Given the description of an element on the screen output the (x, y) to click on. 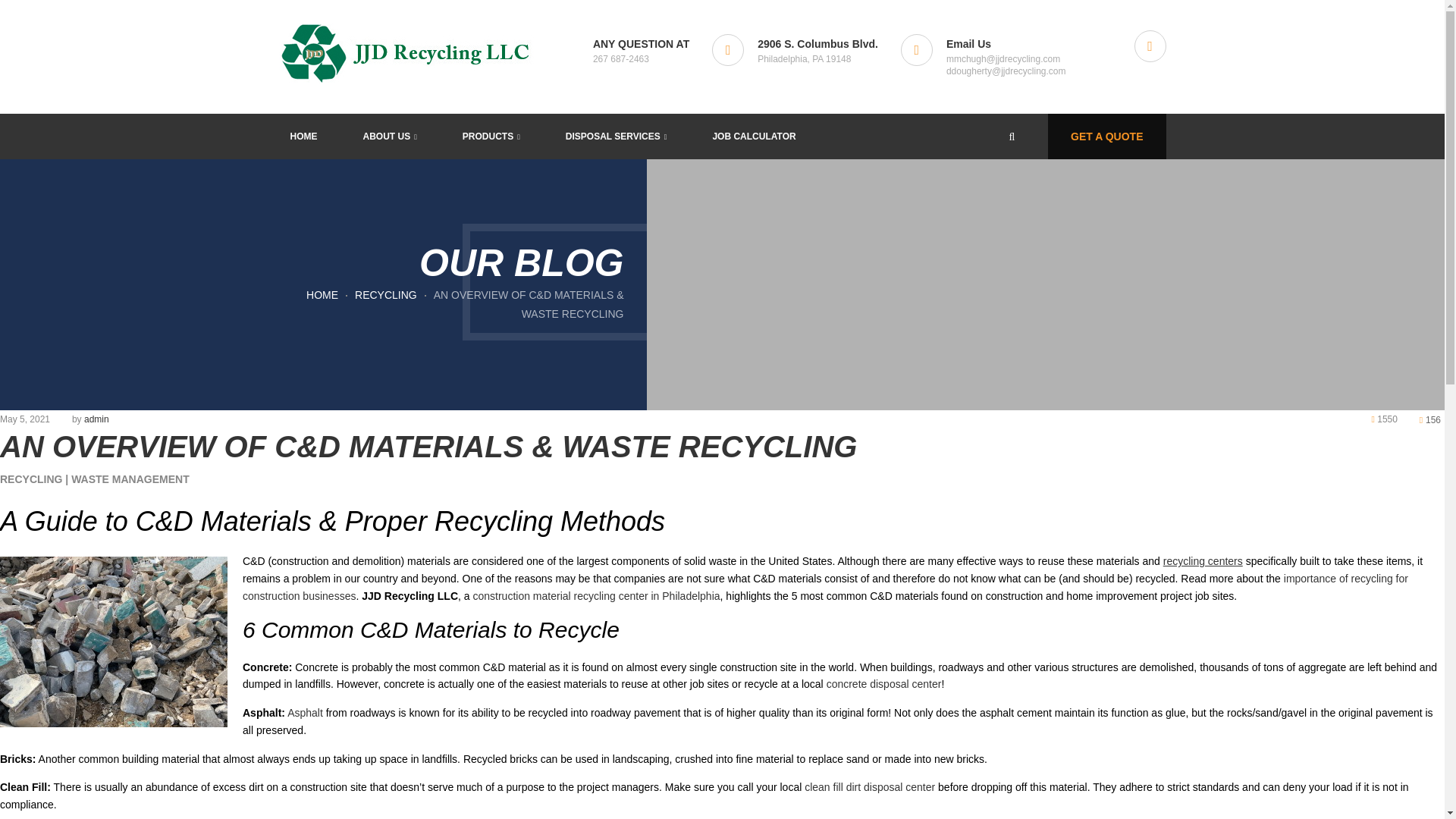
ABOUT US (390, 135)
HOME (304, 135)
PRODUCTS (491, 135)
DISPOSAL SERVICES (616, 135)
Recycling (385, 295)
Like (1430, 419)
GET A QUOTE (1107, 135)
GET A QUOTE (1107, 135)
JOB CALCULATOR (753, 135)
